Given the description of an element on the screen output the (x, y) to click on. 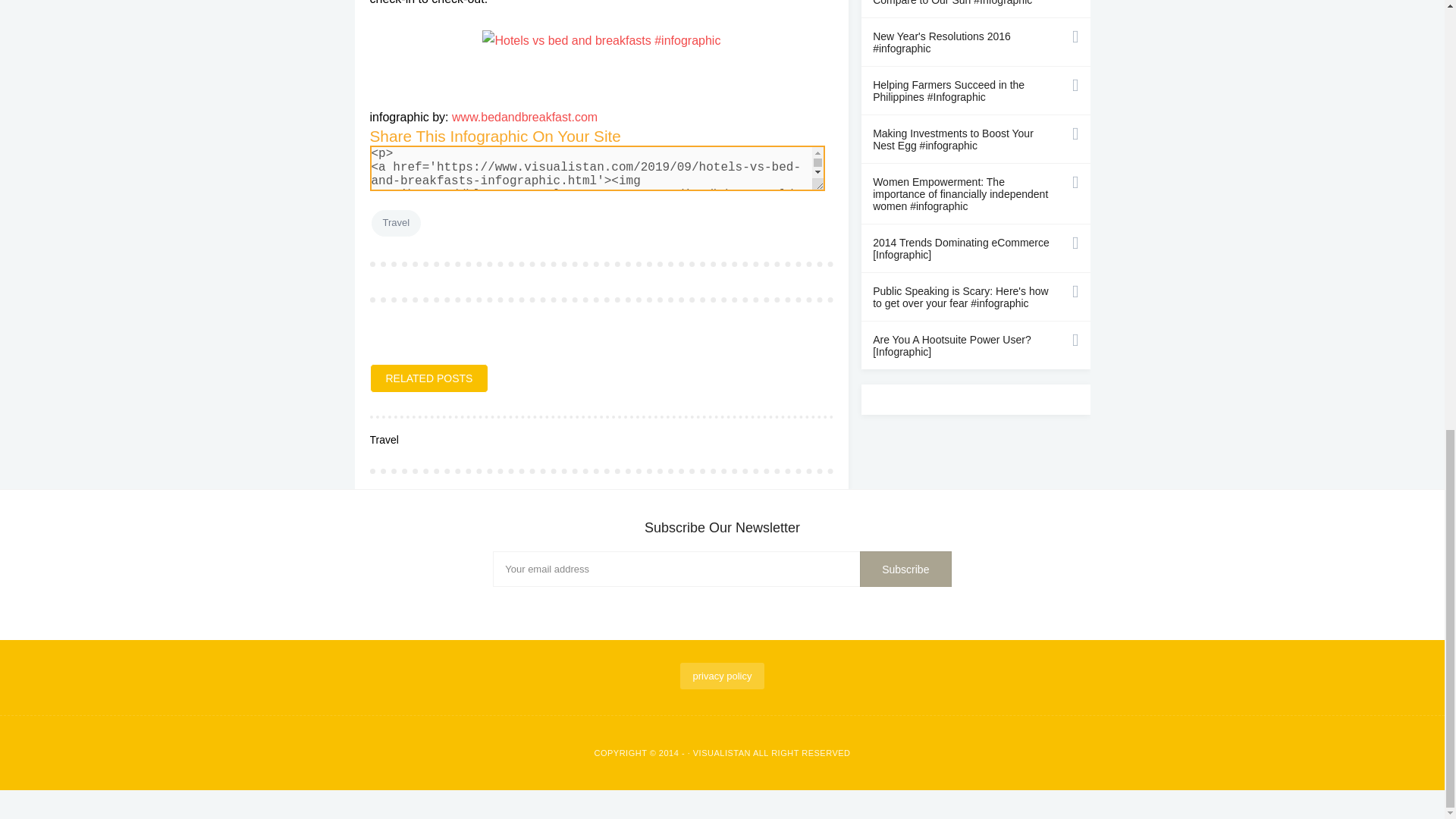
Subscribe (906, 569)
Travel (396, 222)
Email (722, 569)
www.bedandbreakfast.com (523, 116)
